Given the description of an element on the screen output the (x, y) to click on. 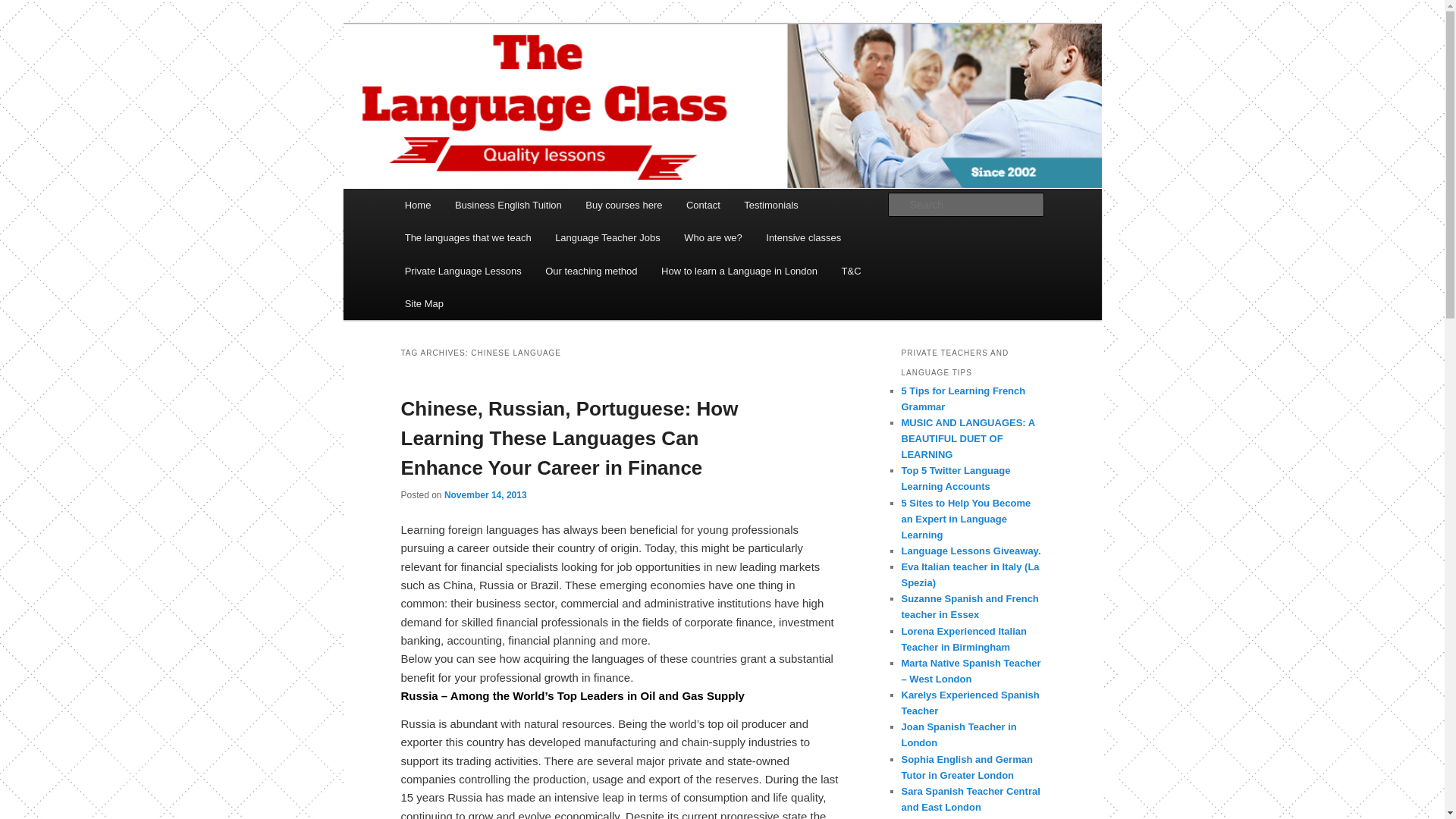
The languages that we teach (468, 237)
November 14, 2013 (485, 494)
Language Teacher Jobs (607, 237)
Buy courses here (624, 205)
Site Map (424, 303)
Testimonials (771, 205)
Business English Tuition (507, 205)
Intensive classes (803, 237)
